Given the description of an element on the screen output the (x, y) to click on. 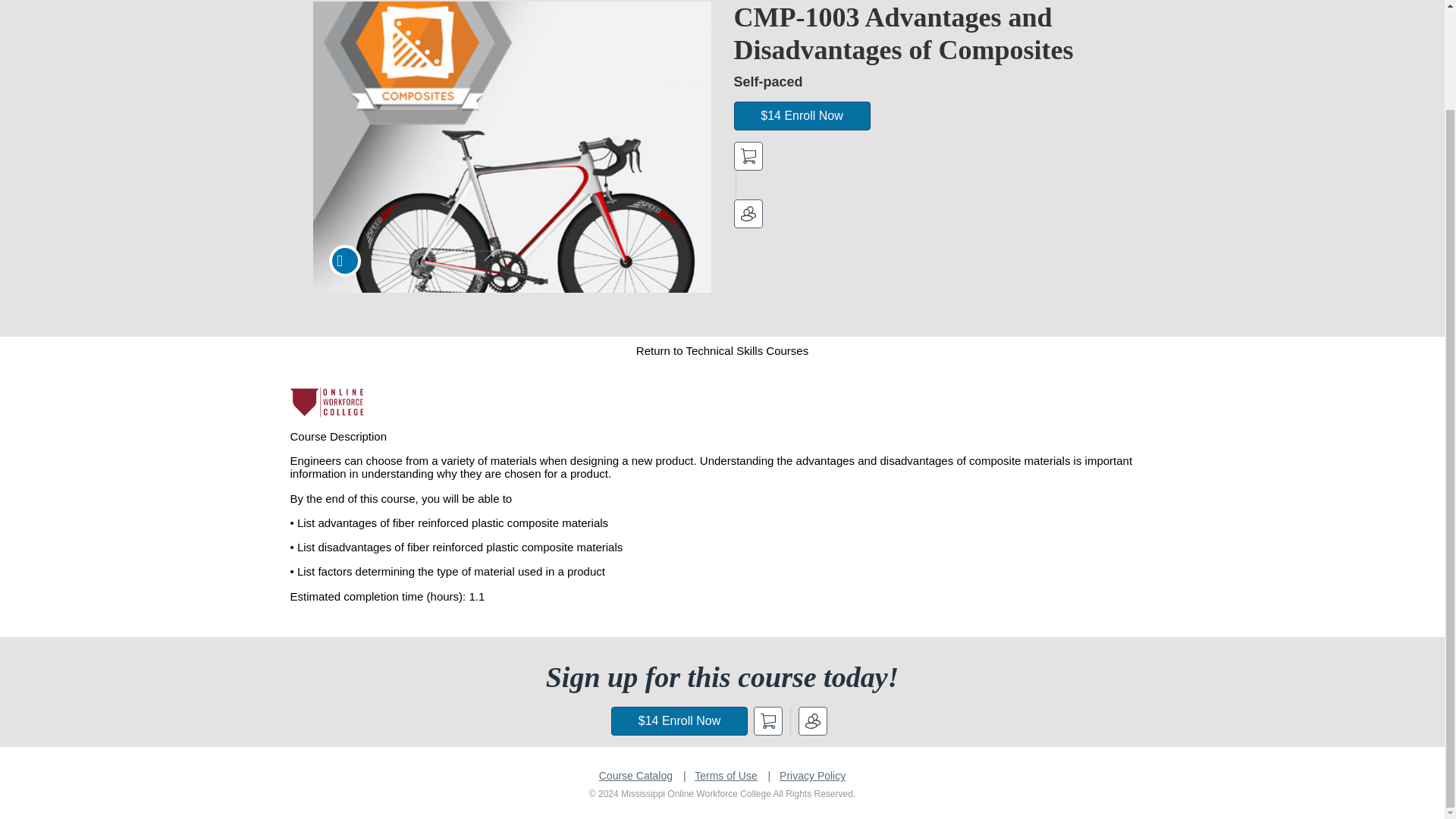
Bulk Purchase (812, 720)
Add to Cart (768, 720)
Mississippi Online Workforce College (327, 402)
Bulk Purchase (747, 213)
Course Catalog (635, 775)
Terms of Use (725, 775)
Privacy Policy (811, 775)
Return to Technical Skills Courses (722, 350)
Course (345, 260)
Add to Cart (747, 155)
